Given the description of an element on the screen output the (x, y) to click on. 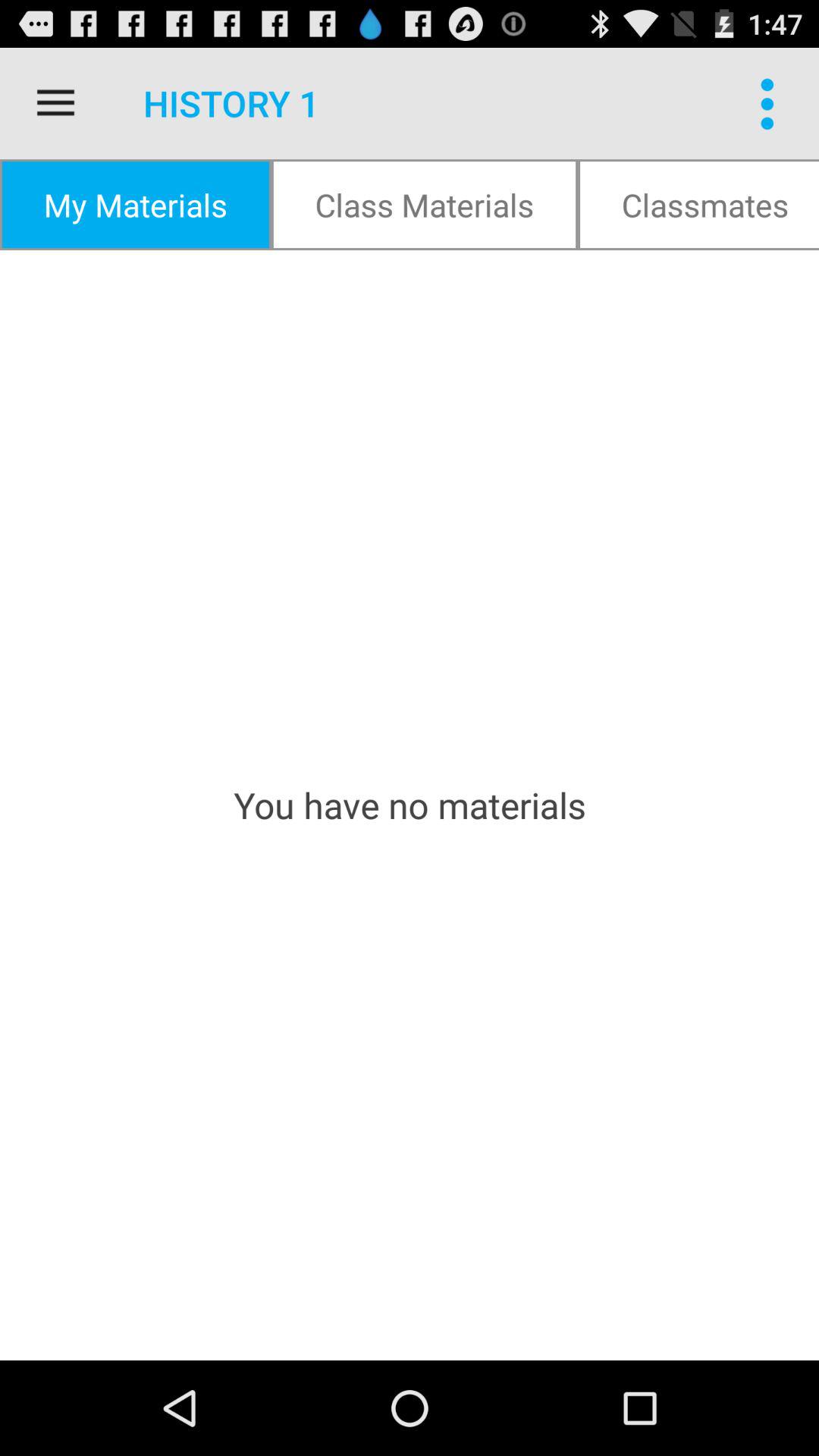
flip to classmates (698, 204)
